Given the description of an element on the screen output the (x, y) to click on. 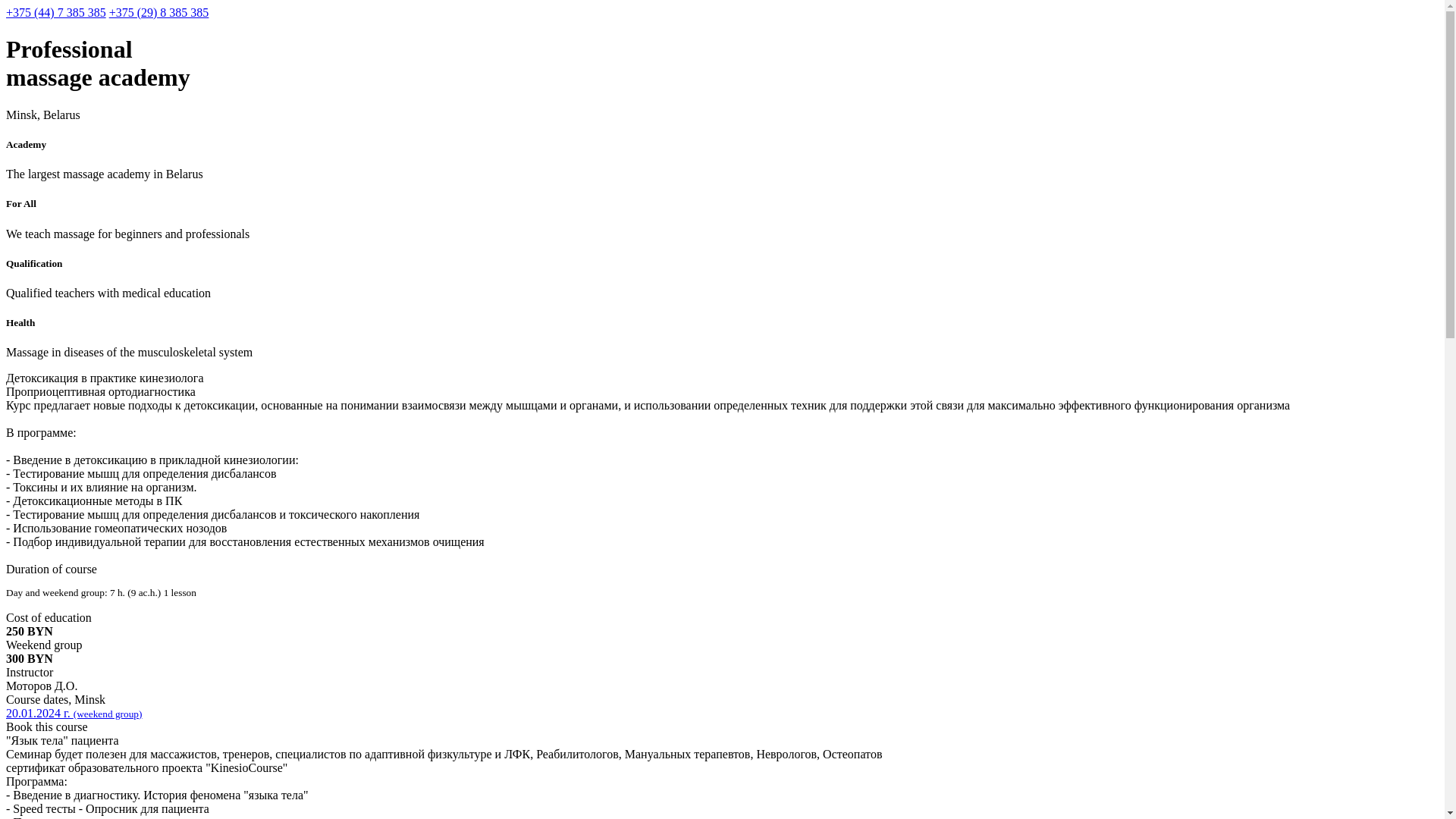
+375 (29) 8 385 385 Element type: text (159, 12)
Book this course Element type: text (722, 727)
+375 (44) 7 385 385 Element type: text (56, 12)
